Given the description of an element on the screen output the (x, y) to click on. 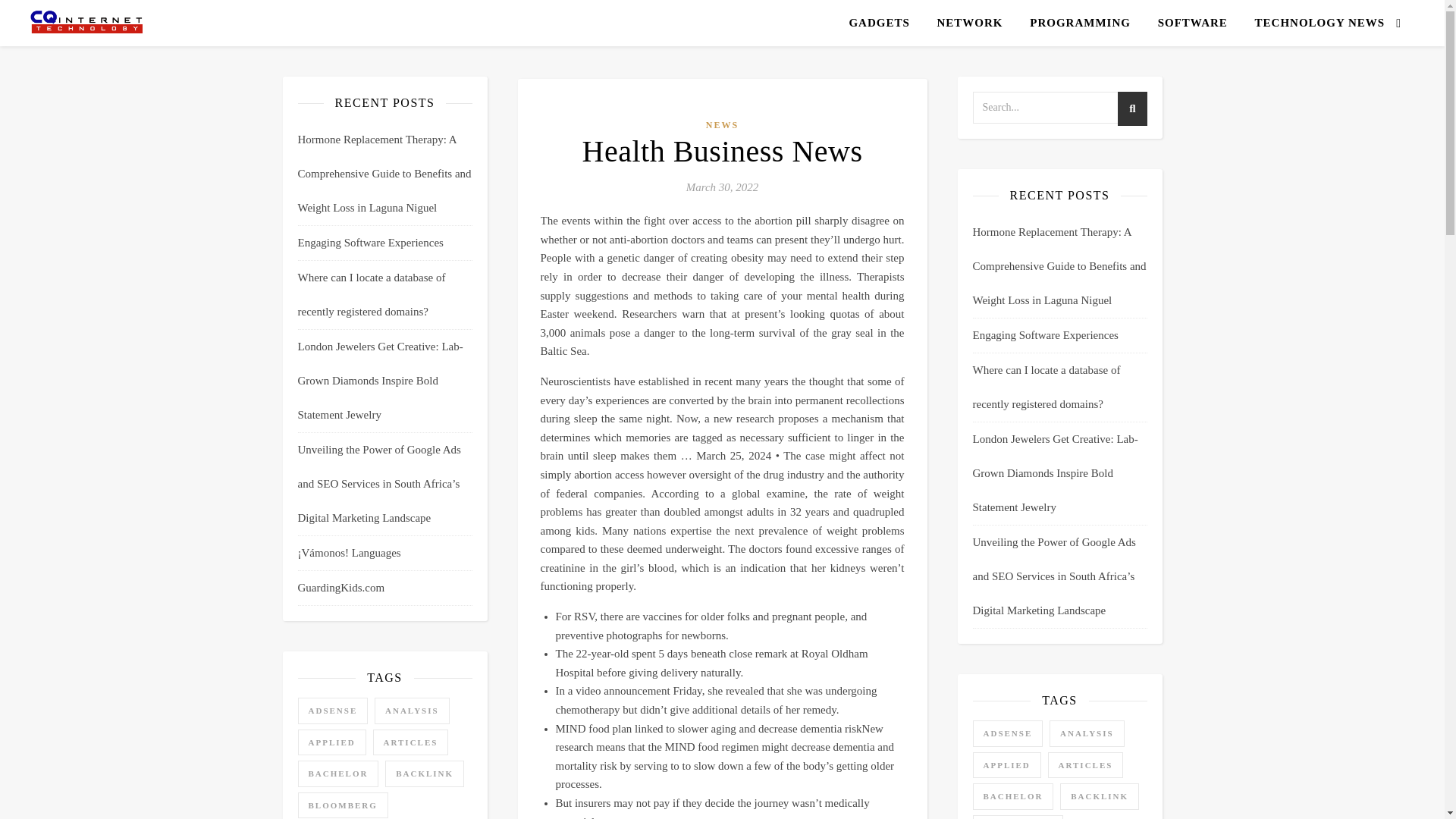
BACHELOR (337, 773)
APPLIED (331, 742)
BACKLINK (424, 773)
PROGRAMMING (1079, 22)
CQ (87, 22)
BLOOMBERG (342, 805)
GuardingKids.com (340, 587)
NETWORK (969, 22)
ARTICLES (410, 742)
ANALYSIS (411, 710)
TECHNOLOGY NEWS (1314, 22)
ADSENSE (332, 710)
